Given the description of an element on the screen output the (x, y) to click on. 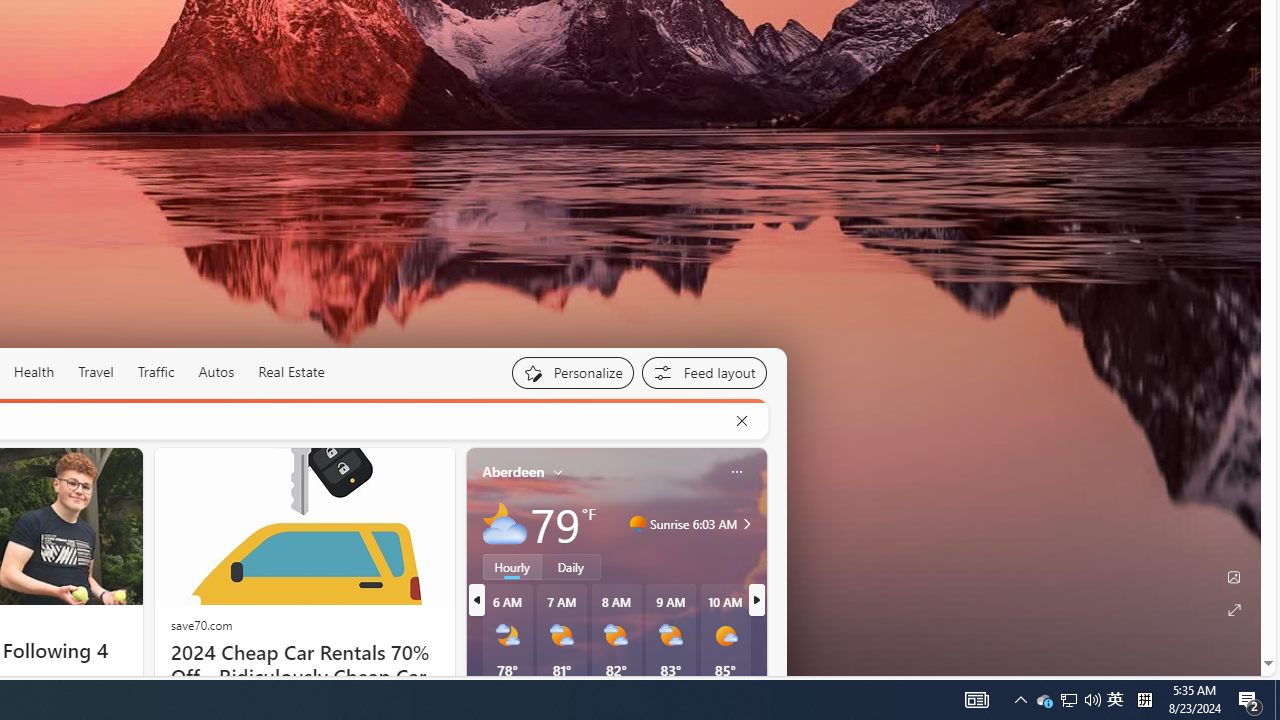
Feed settings (703, 372)
Daily (571, 566)
My location (558, 471)
Mostly cloudy (504, 523)
Cancel (741, 421)
Autos (216, 372)
